Given the description of an element on the screen output the (x, y) to click on. 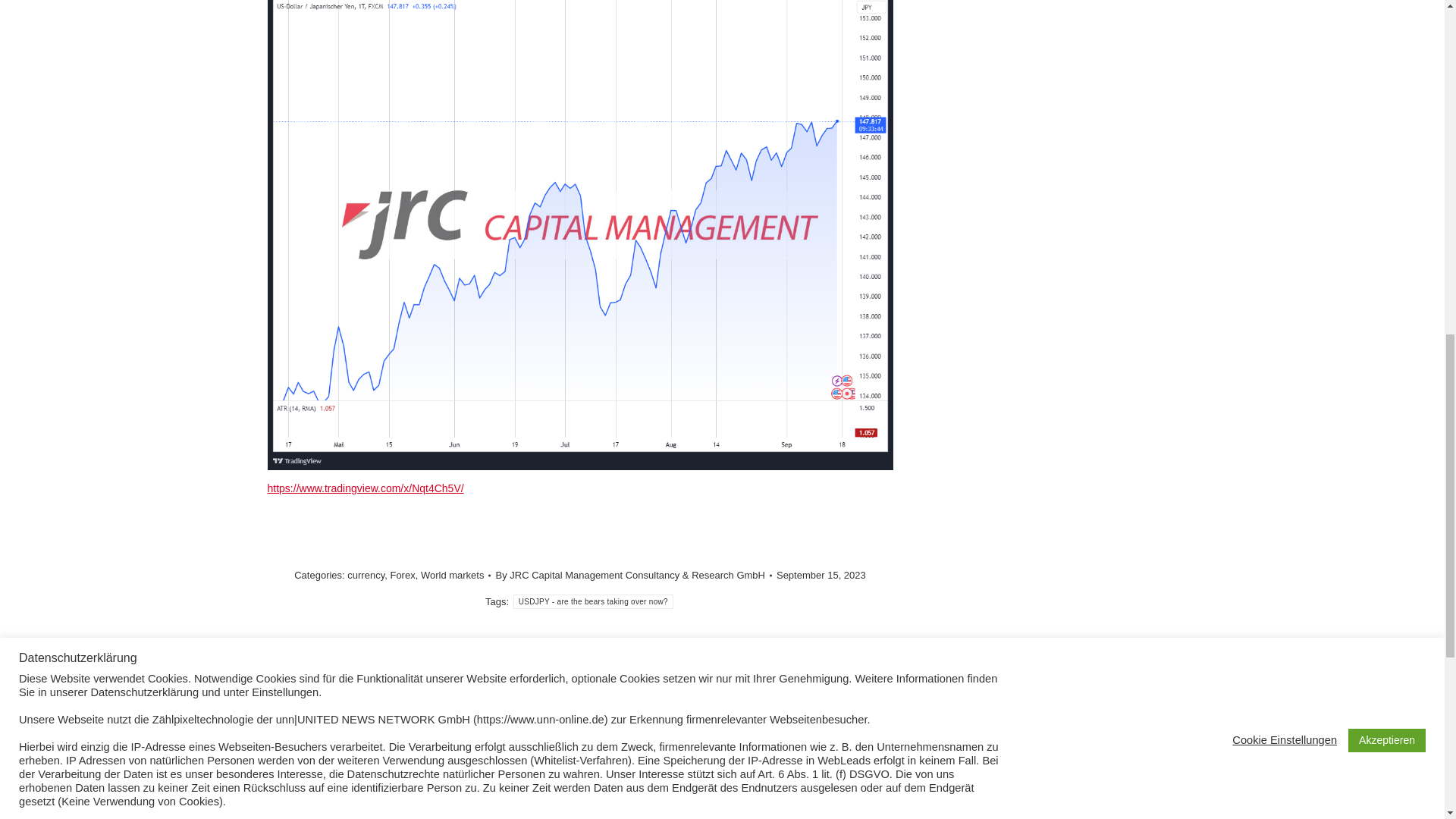
12:28 pm (821, 574)
